Given the description of an element on the screen output the (x, y) to click on. 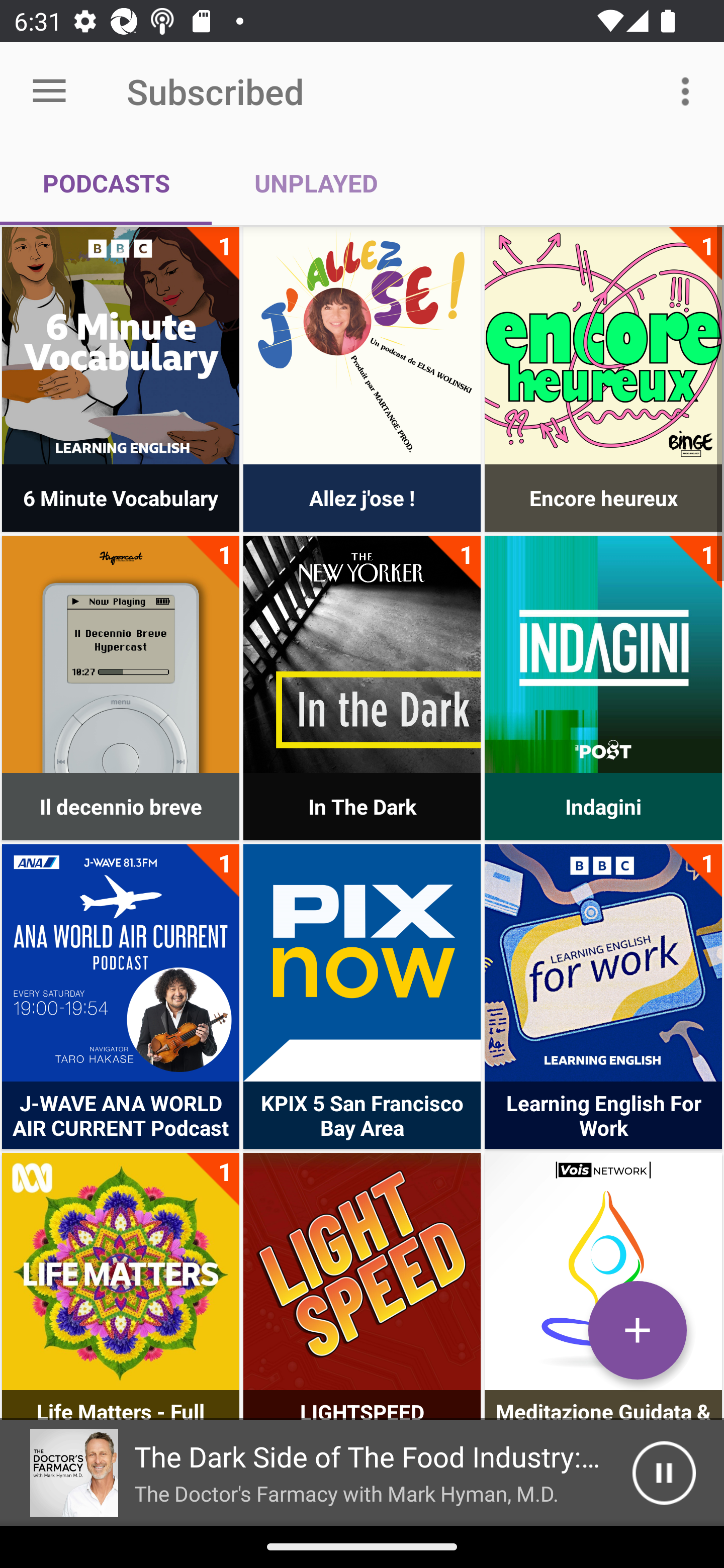
Open menu (49, 91)
More options (688, 90)
PODCASTS (105, 183)
UNPLAYED (315, 183)
6 Minute Vocabulary (120, 345)
Allez j'ose ! (361, 345)
Encore heureux (602, 345)
Il decennio breve (120, 654)
In The Dark (361, 654)
Indagini (602, 654)
J-WAVE ANA WORLD AIR CURRENT Podcast (120, 962)
KPIX 5 San Francisco Bay Area (361, 962)
Learning English For Work (602, 962)
Life Matters - Full program podcast (120, 1271)
Meditazione Guidata & Rilassamento (602, 1271)
Pause (663, 1472)
